Given the description of an element on the screen output the (x, y) to click on. 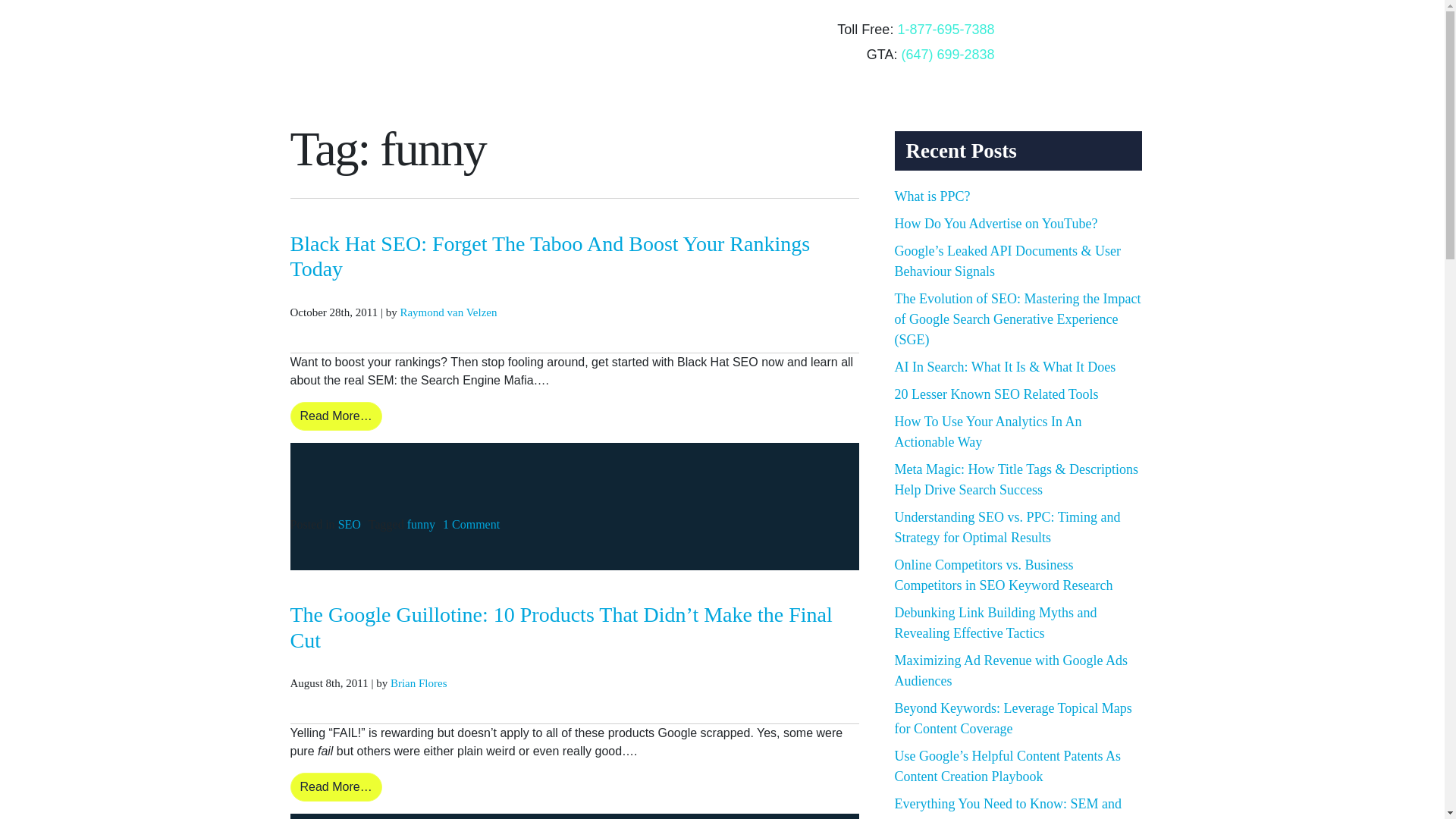
Raymond van Velzen (447, 312)
funny (421, 523)
SEO (349, 523)
1 Comment (470, 523)
Brian Flores (418, 683)
1-877-695-7388 (945, 29)
